Given the description of an element on the screen output the (x, y) to click on. 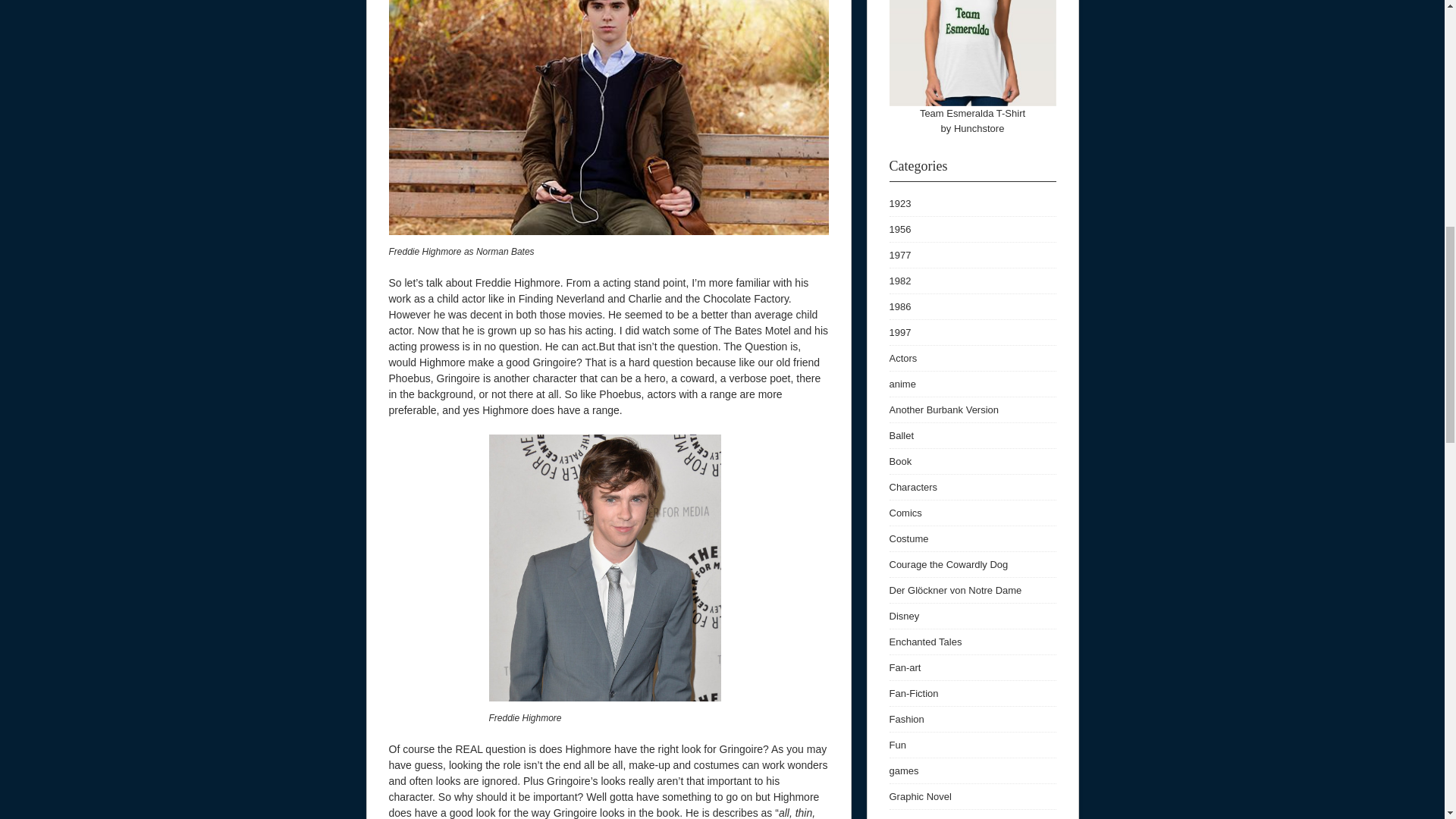
1977 (899, 255)
1986 (899, 306)
Characters (912, 487)
Comics (904, 512)
Another Burbank Version (943, 409)
Team Esmeralda T-Shirt (972, 112)
1956 (899, 229)
Courage the Cowardly Dog (947, 564)
Ballet (901, 435)
anime (901, 383)
